Given the description of an element on the screen output the (x, y) to click on. 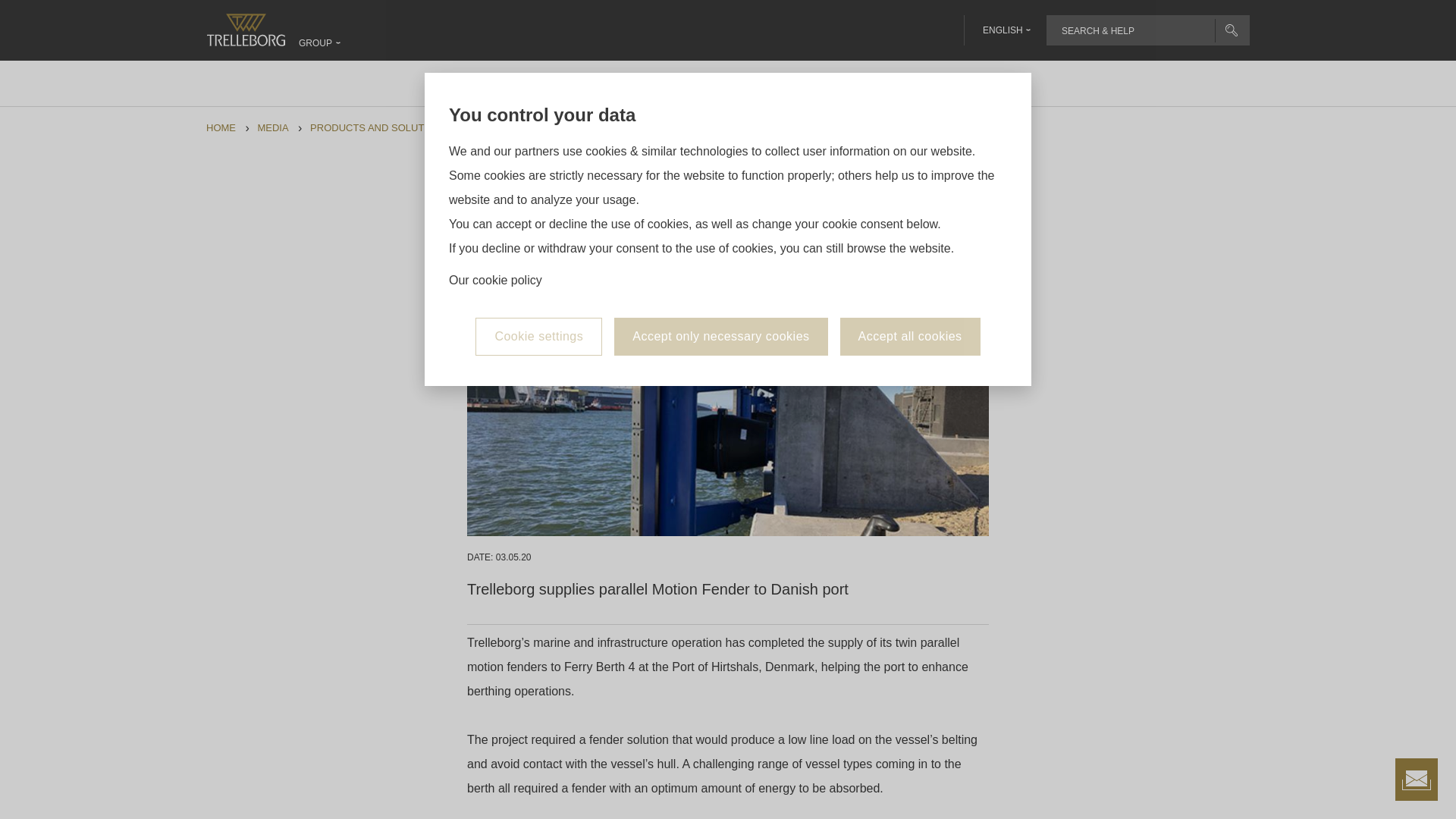
Cookie settings (539, 336)
Accept only necessary cookies (720, 336)
Our cookie policy (494, 280)
Accept all cookies (909, 336)
